Given the description of an element on the screen output the (x, y) to click on. 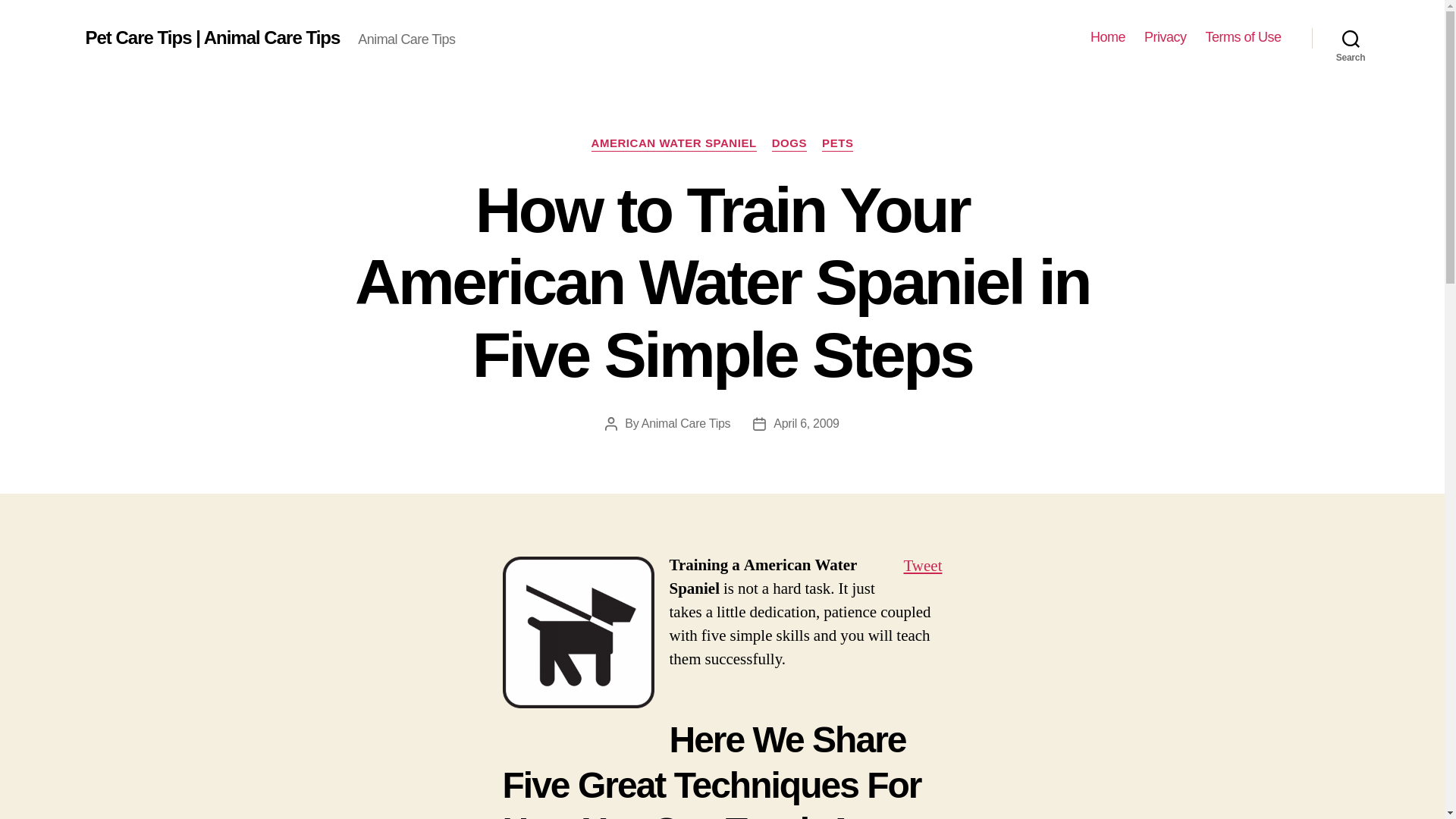
AMERICAN WATER SPANIEL (674, 143)
Terms of Use (1243, 37)
April 6, 2009 (805, 422)
Five Tips to Train Your American Water Spaniel (577, 632)
DOGS (788, 143)
Animal Care Tips (686, 422)
Search (1350, 37)
Home (1107, 37)
Privacy (1165, 37)
PETS (837, 143)
